Given the description of an element on the screen output the (x, y) to click on. 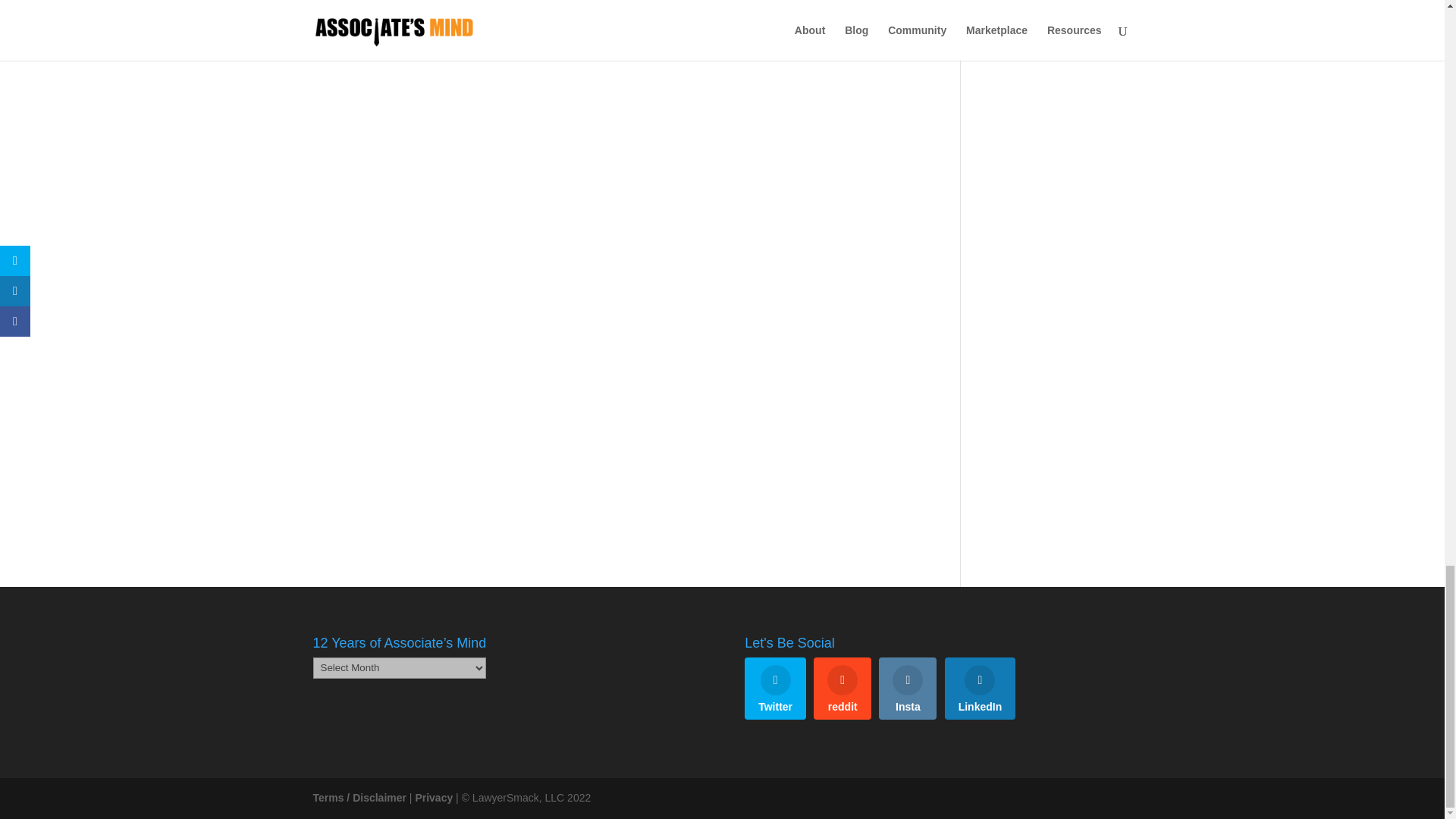
reddit (841, 688)
Privacy (433, 797)
LinkedIn (980, 688)
Twitter (775, 688)
Insta (907, 688)
